Given the description of an element on the screen output the (x, y) to click on. 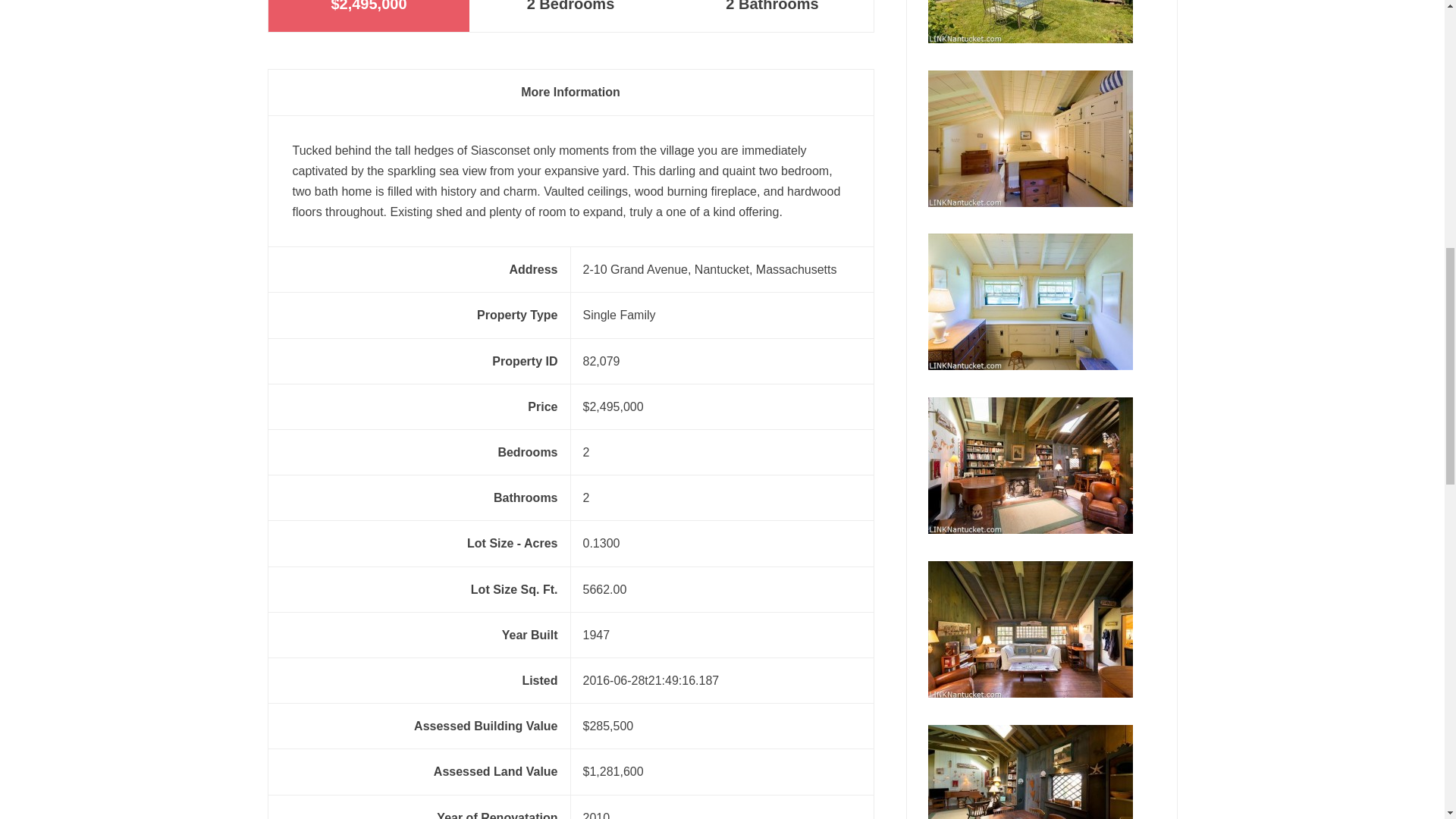
Property Image (1030, 21)
Property Image (1030, 465)
Property Image (1030, 771)
Property Image (1030, 138)
Property Image (1030, 301)
Property Image (1030, 629)
